Given the description of an element on the screen output the (x, y) to click on. 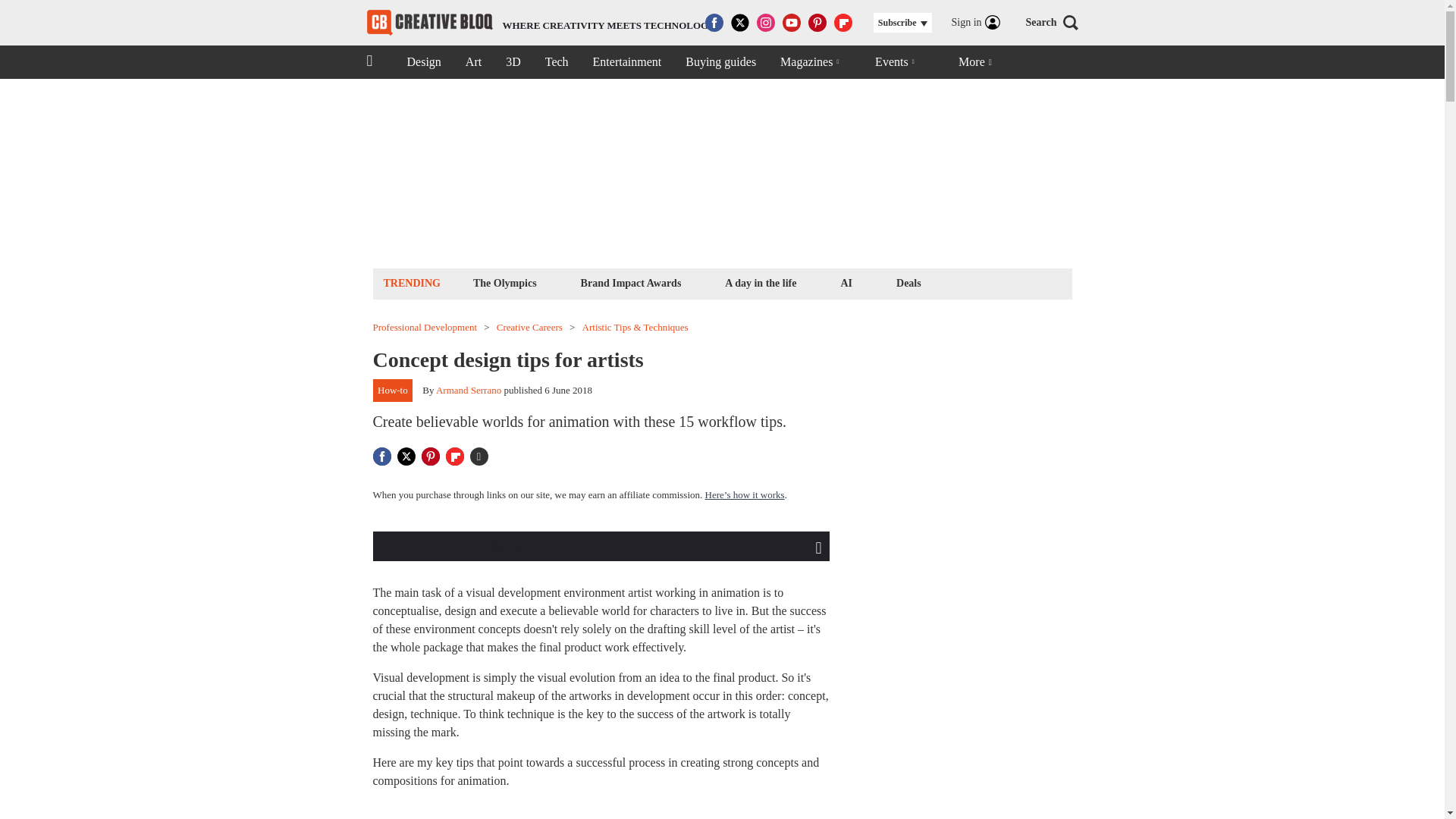
AI (845, 282)
A day in the life (760, 282)
Brand Impact Awards (631, 282)
Deals (908, 282)
Design (423, 61)
Entertainment (627, 61)
3D (512, 61)
Professional Development (424, 327)
Creative Careers (529, 327)
Art (472, 61)
